Given the description of an element on the screen output the (x, y) to click on. 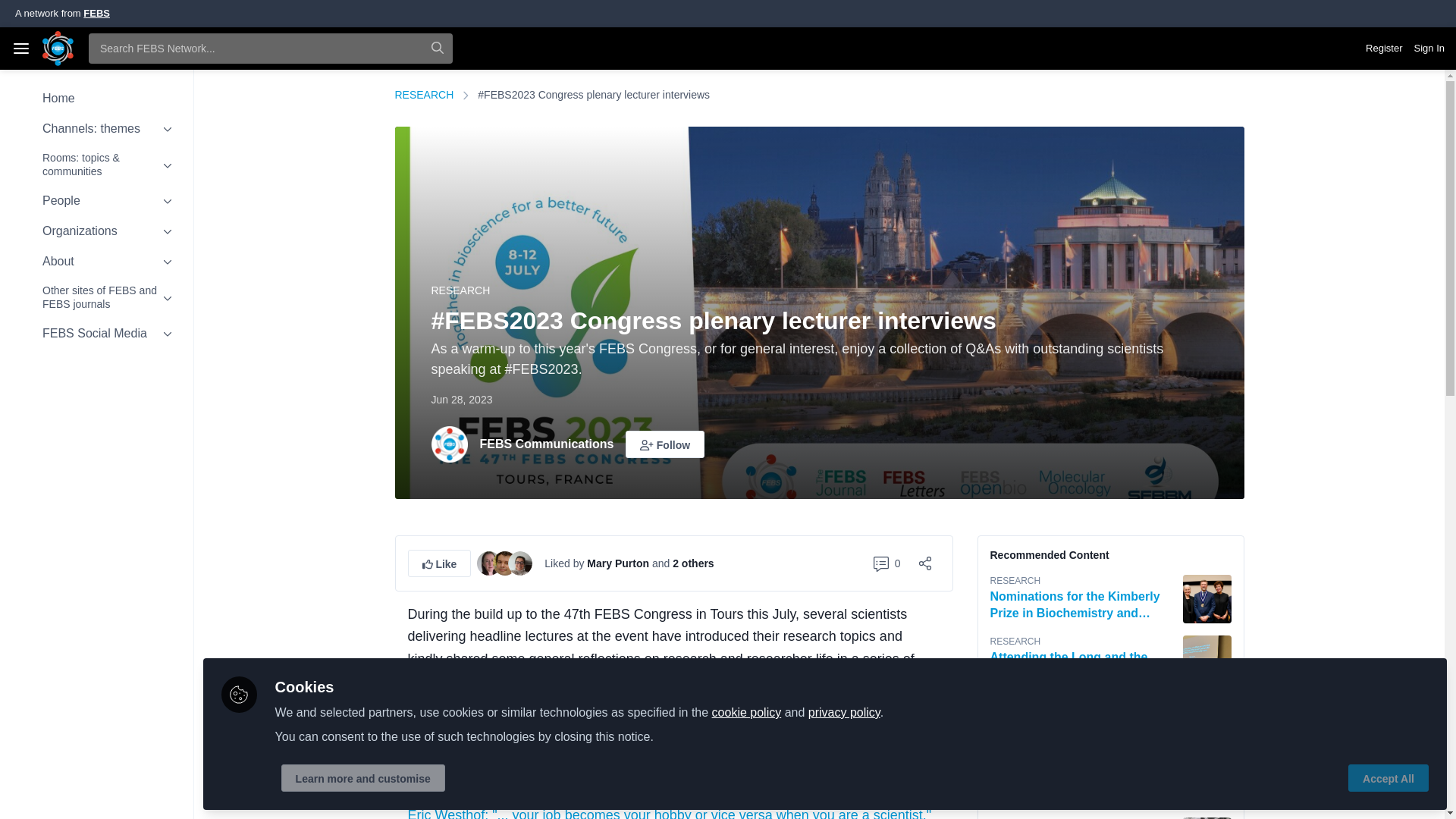
FEBS Social Media (96, 333)
Search (437, 48)
People (96, 200)
Home (96, 98)
Home (96, 98)
Organizations (96, 230)
About (96, 261)
Channels: themes (96, 128)
Organizations (96, 230)
FEBS (96, 12)
